Given the description of an element on the screen output the (x, y) to click on. 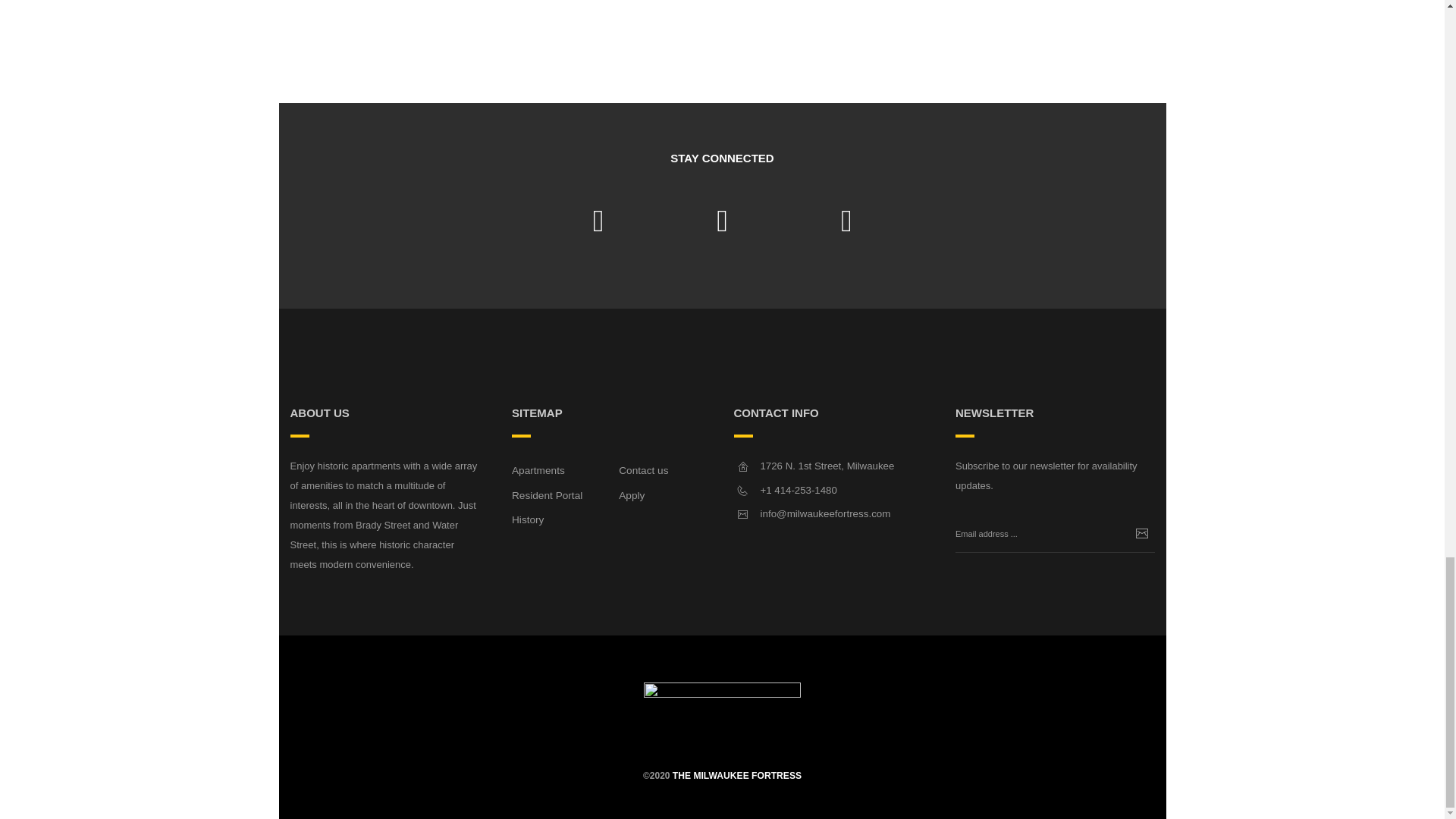
Contact us (643, 470)
Resident Portal (547, 495)
Apply (631, 495)
History (527, 519)
Apartments (538, 470)
